Given the description of an element on the screen output the (x, y) to click on. 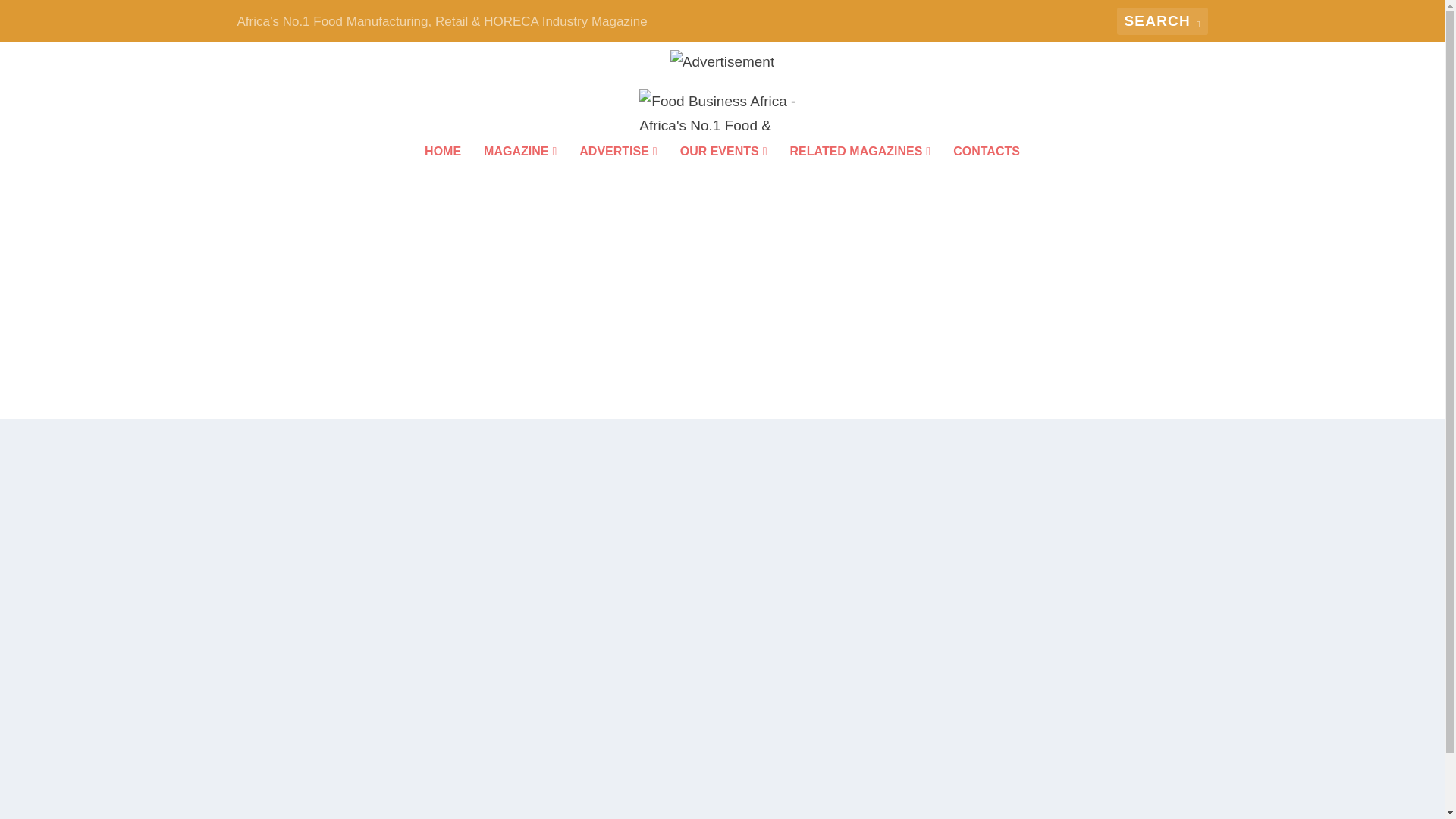
CONTACTS (986, 172)
MAGAZINE (519, 172)
OUR EVENTS (723, 172)
RELATED MAGAZINES (860, 172)
Search for: (1161, 21)
ADVERTISE (617, 172)
